Given the description of an element on the screen output the (x, y) to click on. 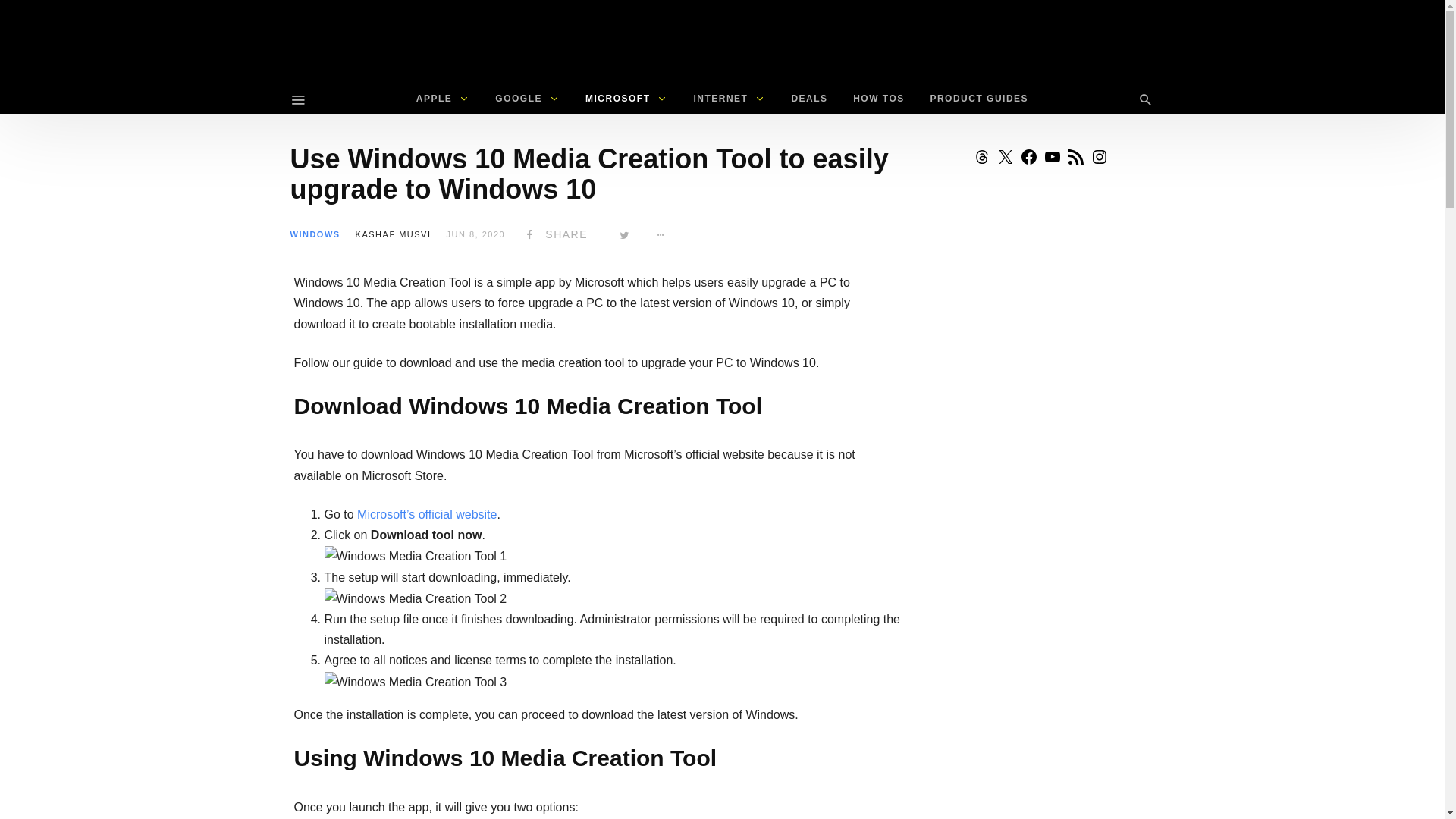
MICROSOFT (626, 98)
WINDOWS (314, 234)
INTERNET (728, 98)
SHARE (554, 234)
PRODUCT GUIDES (978, 98)
GOOGLE (526, 98)
KASHAF MUSVI (392, 234)
Share on Facebook (554, 234)
View all posts in Windows (314, 234)
APPLE (442, 98)
